Given the description of an element on the screen output the (x, y) to click on. 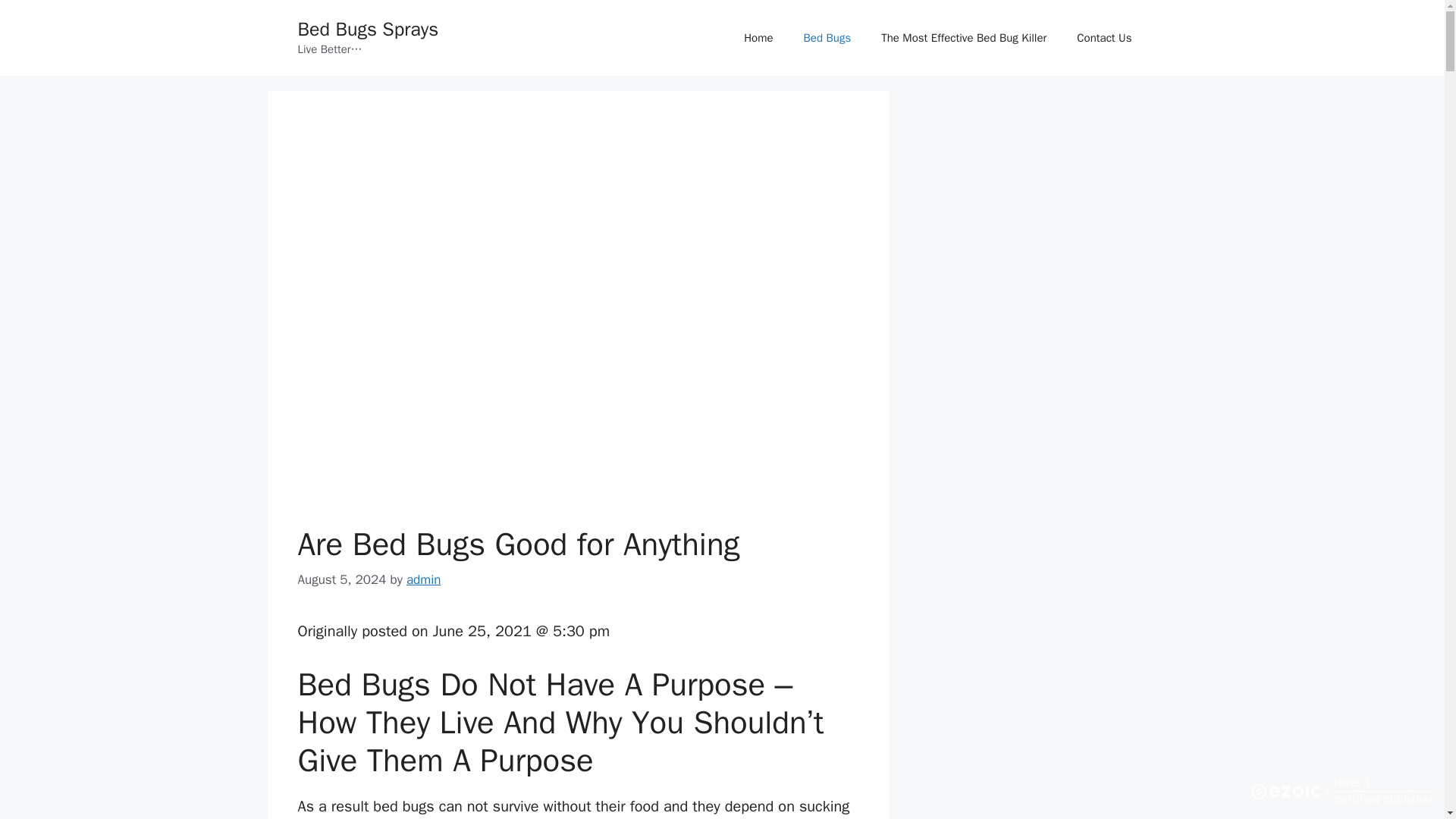
The Most Effective Bed Bug Killer (963, 37)
Home (758, 37)
View all posts by admin (423, 579)
Bed Bugs Sprays (367, 28)
admin (423, 579)
Bed Bugs (827, 37)
Contact Us (1104, 37)
